Given the description of an element on the screen output the (x, y) to click on. 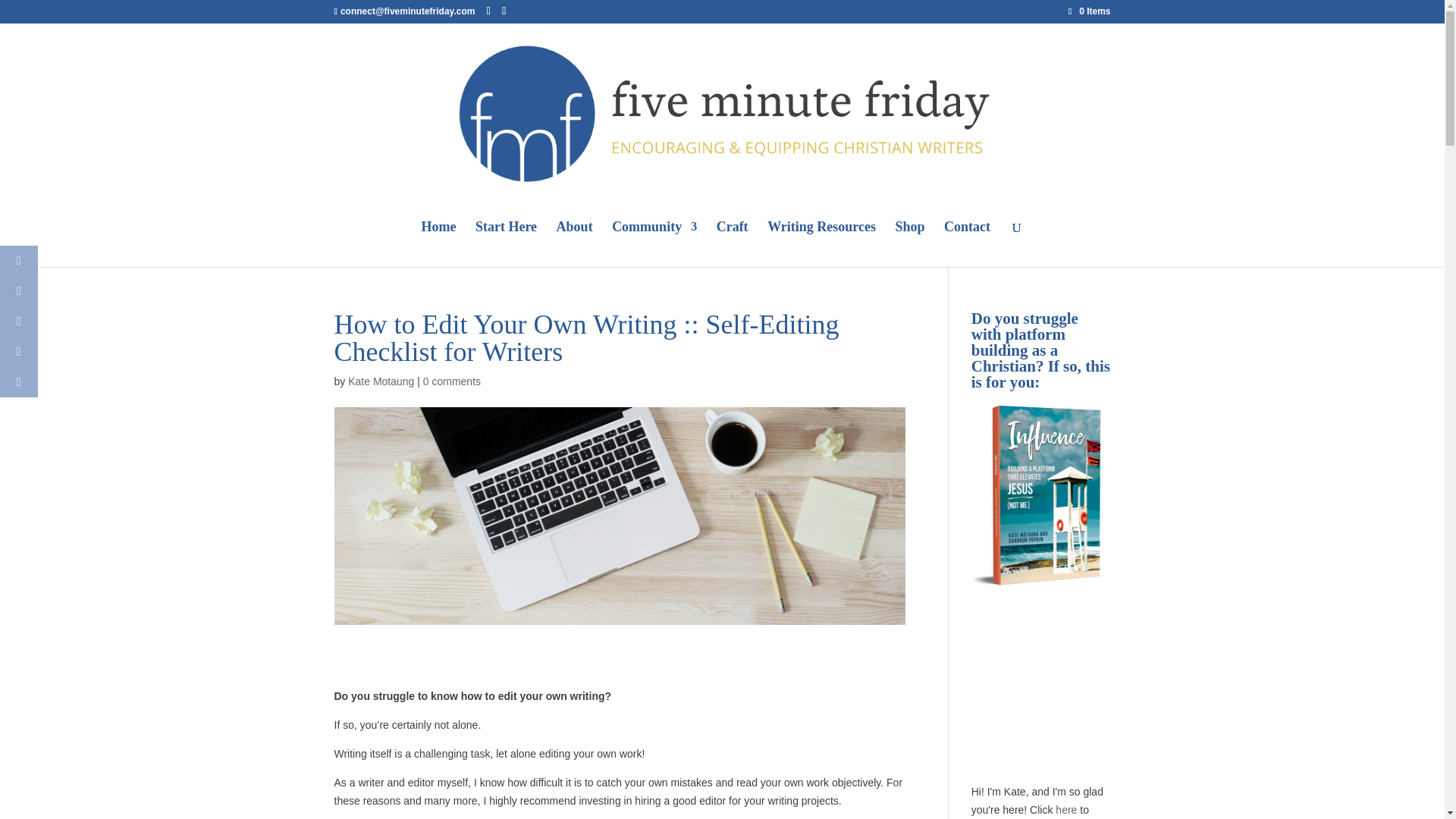
Kate Motaung (380, 381)
Posts by Kate Motaung (380, 381)
Contact (966, 243)
here (1066, 809)
Writing Resources (821, 243)
Community (654, 243)
0 comments (451, 381)
Start Here (506, 243)
0 Items (1089, 10)
